Given the description of an element on the screen output the (x, y) to click on. 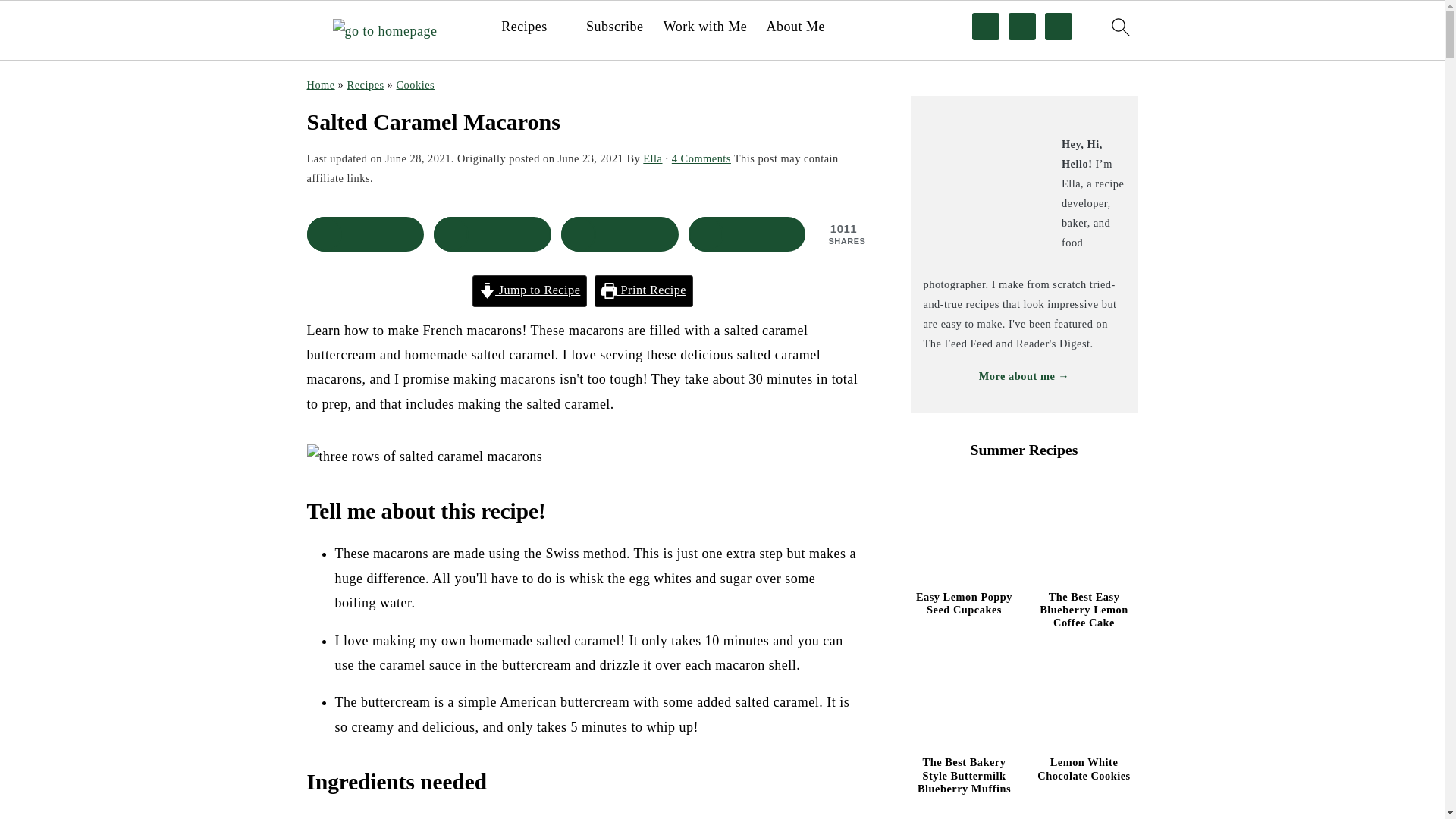
Share on Facebook (364, 234)
Cookies (415, 84)
Share on X (492, 234)
Save to Pinterest (619, 234)
Share on Yummly (747, 234)
Recipes (365, 84)
Recipes (523, 27)
About Me (795, 27)
search icon (1119, 26)
